Given the description of an element on the screen output the (x, y) to click on. 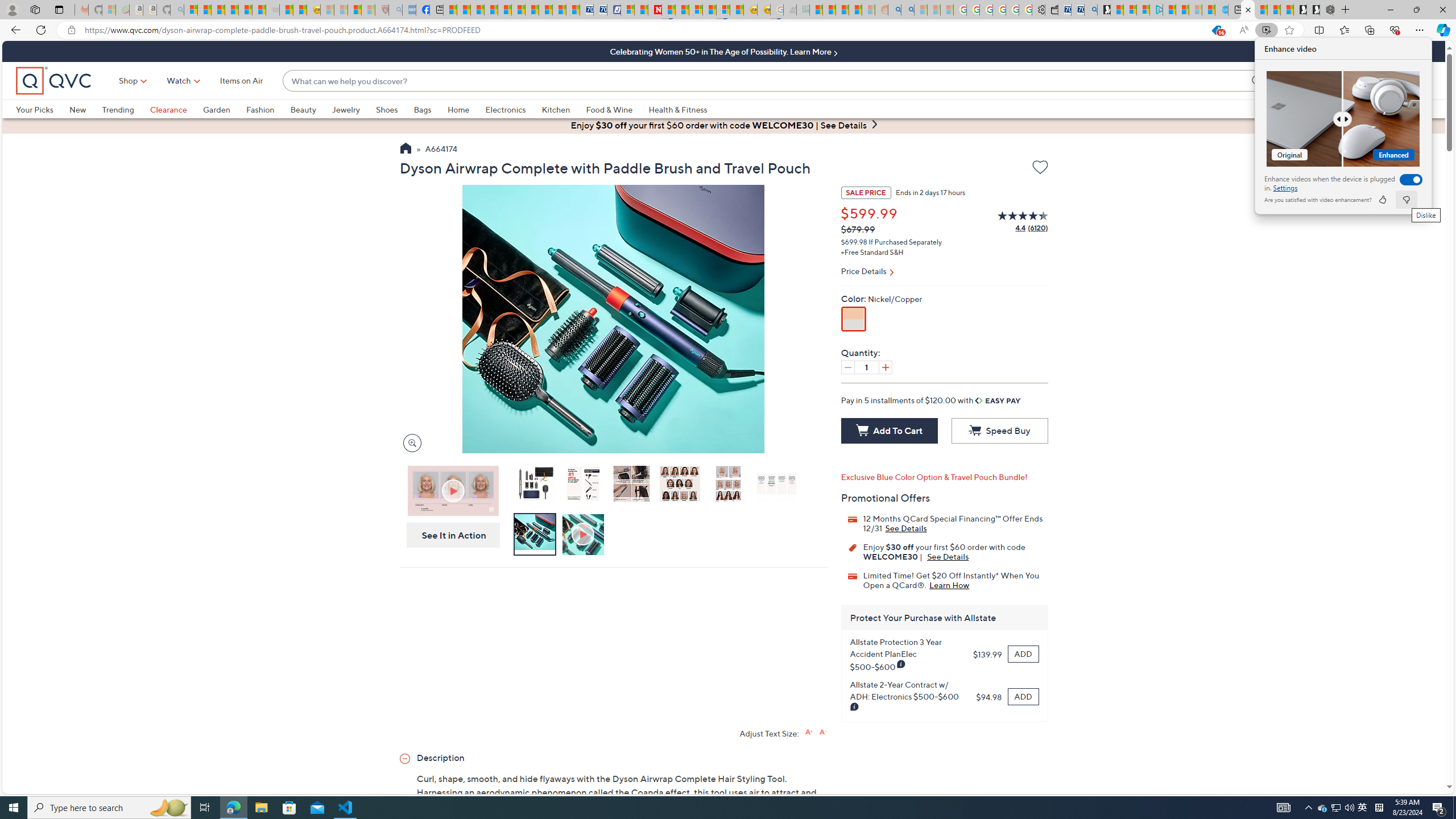
Speed Buy (999, 430)
12 Months QCard Special Financing Offer Ends 12/31 (906, 527)
Running applications (700, 807)
Your Picks (42, 109)
Fashion (260, 109)
Beauty (302, 109)
Celebrating Women 50+ in The Age of Possibility. Learn More (723, 51)
Climate Damage Becomes Too Severe To Reverse (490, 9)
Add To Cart (888, 430)
